Given the description of an element on the screen output the (x, y) to click on. 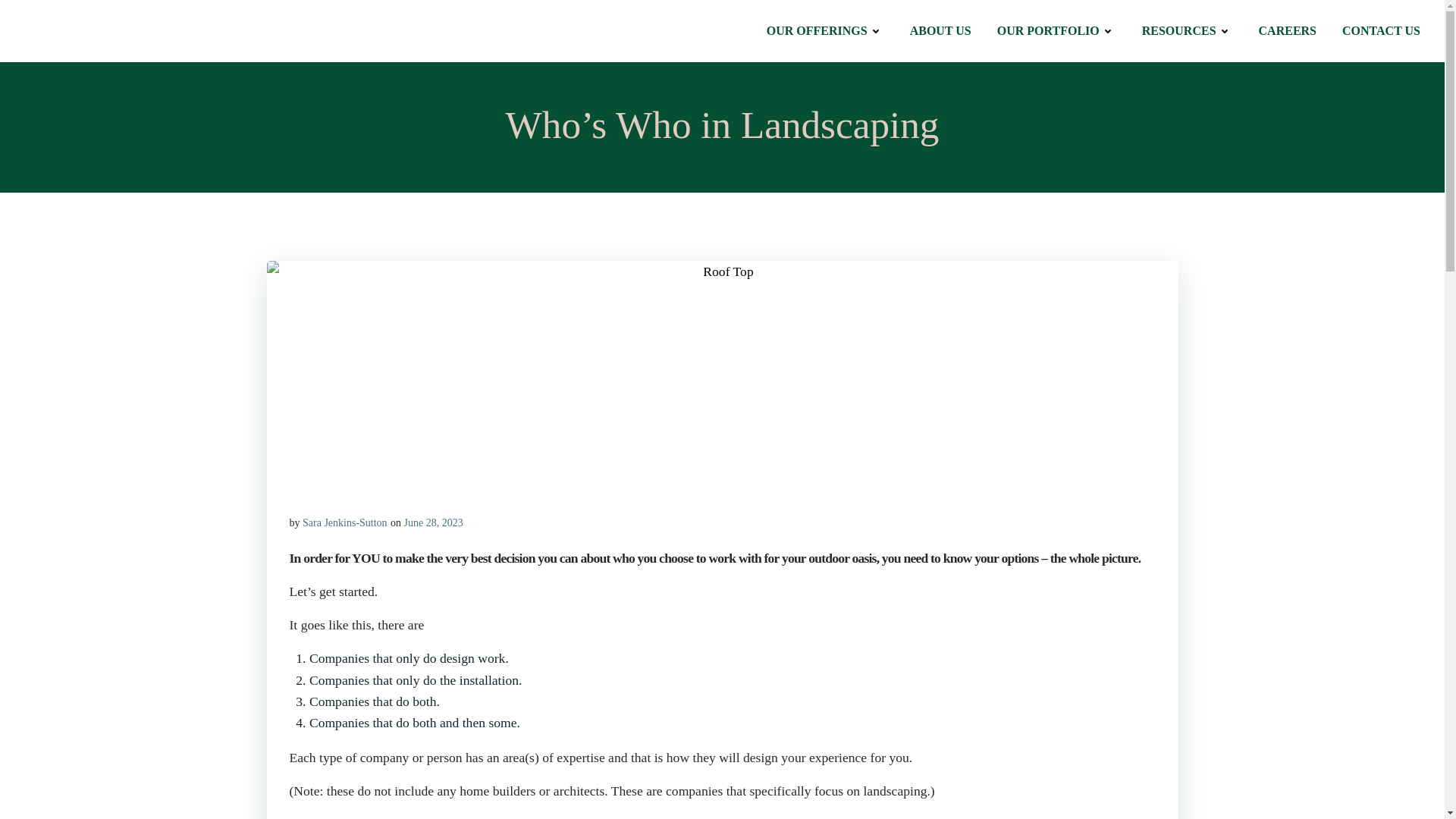
OUR PORTFOLIO (1056, 31)
RESOURCES (1187, 31)
CAREERS (1287, 31)
ABOUT US (940, 31)
CONTACT US (1381, 31)
OUR OFFERINGS (825, 31)
